Given the description of an element on the screen output the (x, y) to click on. 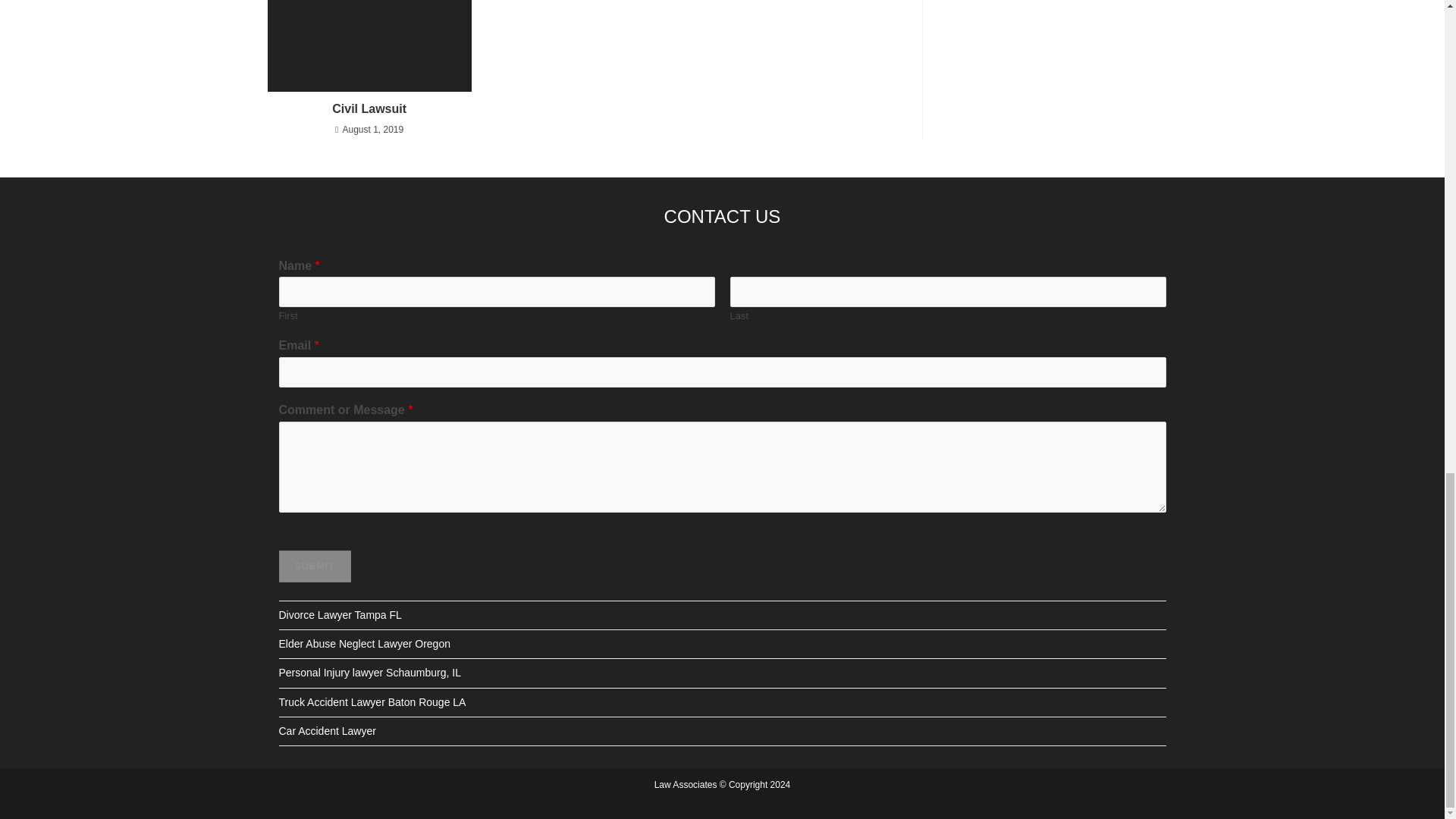
SUBMIT (314, 566)
Elder Abuse Neglect Lawyer Oregon (364, 644)
Divorce Lawyer Tampa FL (340, 614)
Truck Accident Lawyer Baton Rouge LA (372, 702)
Personal Injury lawyer Schaumburg, IL (370, 672)
Car Accident Lawyer (327, 730)
Civil Lawsuit (368, 108)
